Given the description of an element on the screen output the (x, y) to click on. 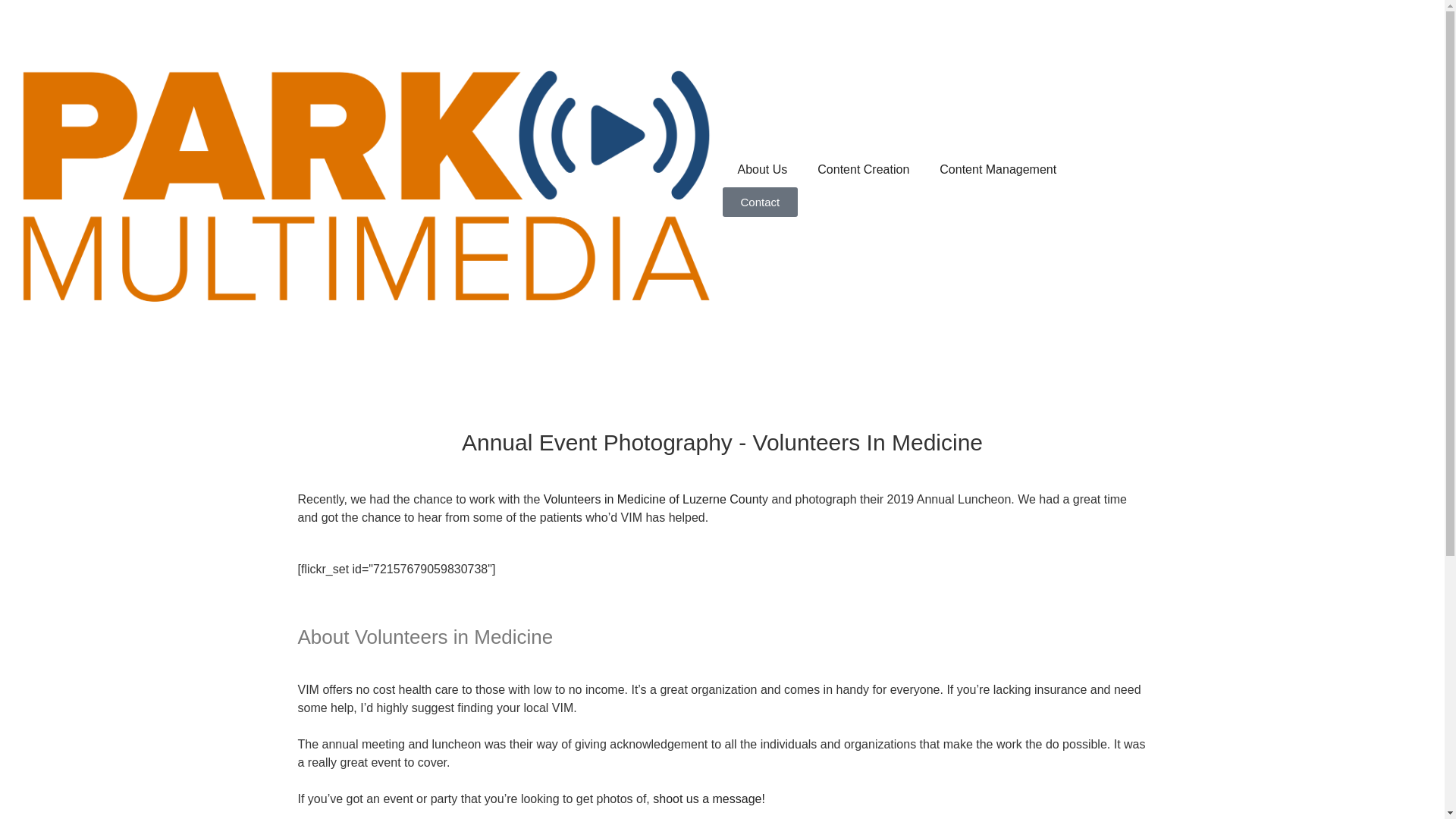
Volunteers in Medicine of Luzerne Count (652, 499)
Contact (759, 202)
About Us (762, 169)
shoot us a message! (708, 798)
Content Creation (863, 169)
Content Management (997, 169)
